Given the description of an element on the screen output the (x, y) to click on. 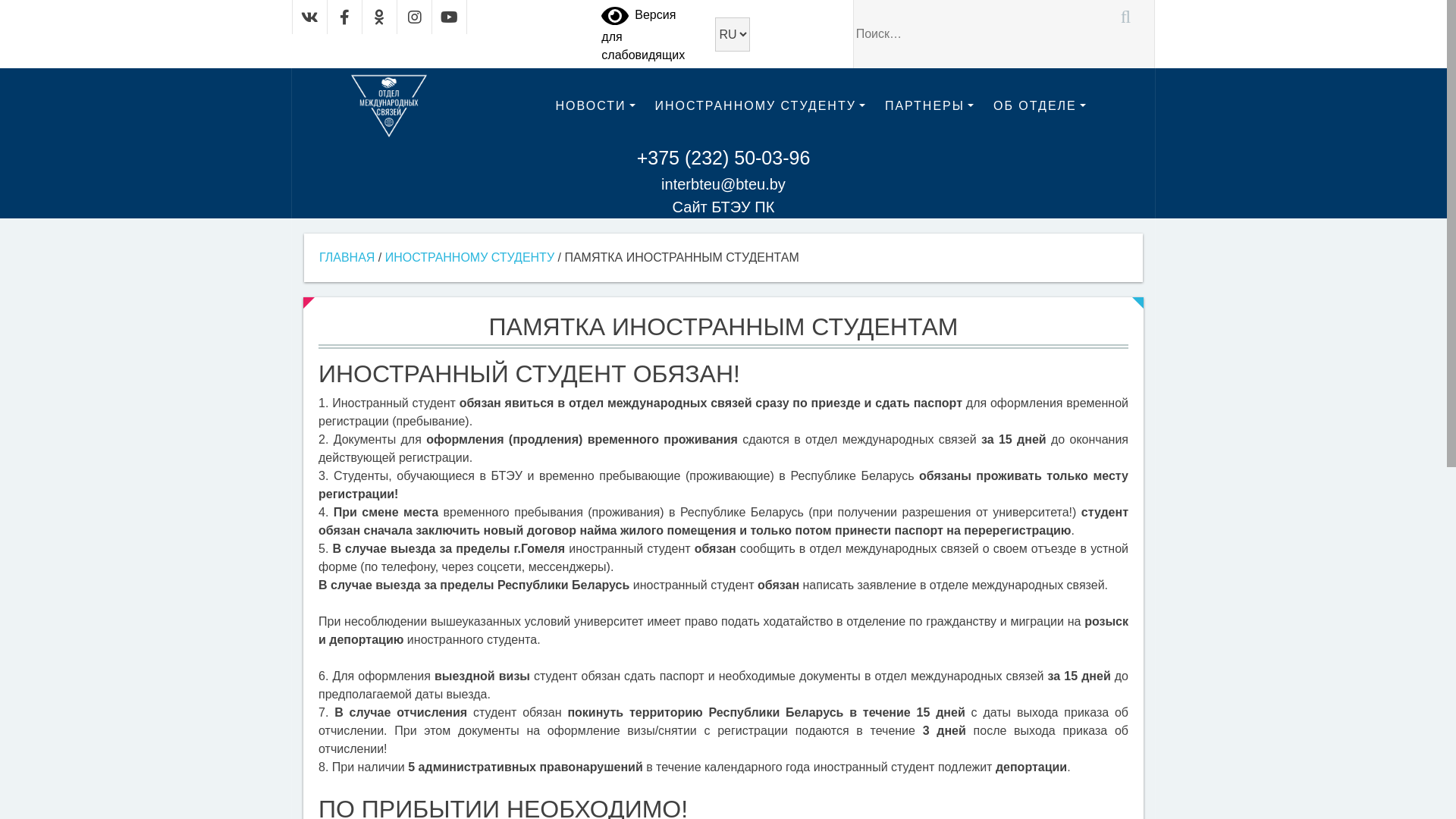
interbteu@bteu.by Element type: text (723, 183)
+375 (232) 50-03-96 Element type: text (723, 158)
